Given the description of an element on the screen output the (x, y) to click on. 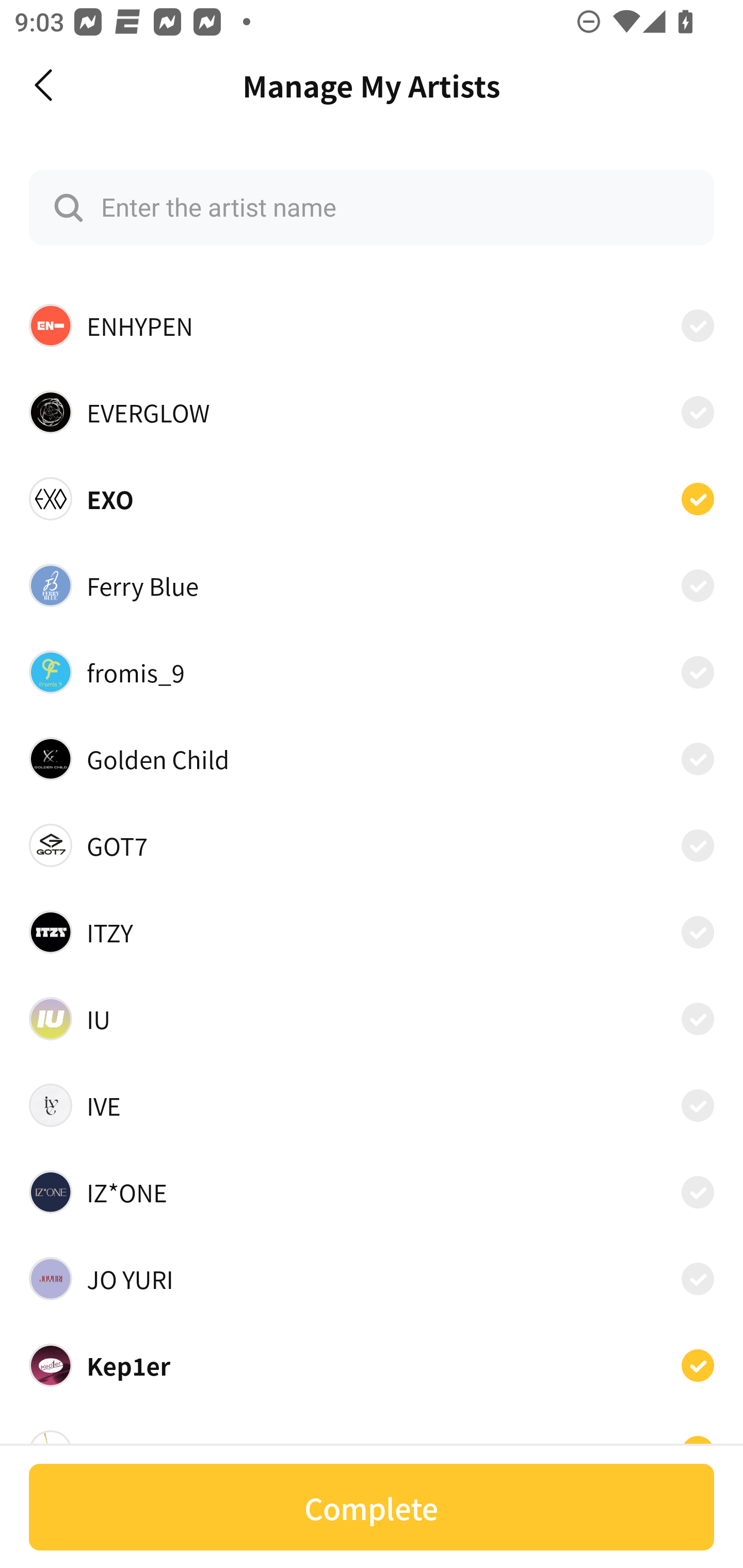
Enter the artist name (371, 207)
ENHYPEN (371, 325)
EVERGLOW (371, 412)
EXO (371, 498)
Ferry Blue (371, 585)
fromis_9 (371, 671)
Golden Child (371, 758)
GOT7 (371, 845)
ITZY (371, 932)
IU (371, 1018)
IVE (371, 1105)
IZ*ONE (371, 1191)
JO YURI (371, 1278)
Kep1er (371, 1365)
Complete (371, 1507)
